Given the description of an element on the screen output the (x, y) to click on. 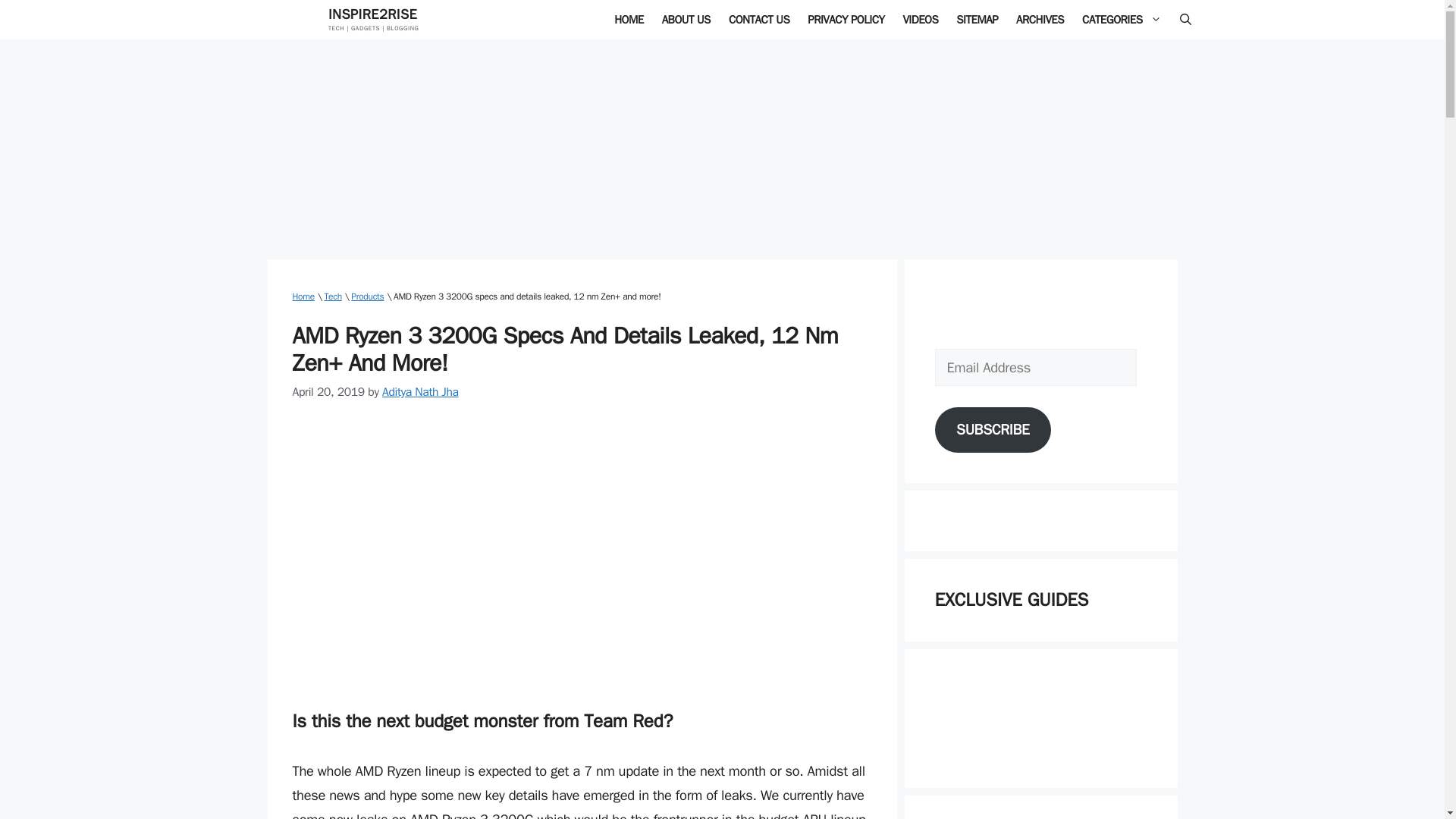
SITEMAP (977, 19)
CATEGORIES (1121, 19)
Categories (1121, 19)
Inspire2rise (628, 19)
Videos (920, 19)
About Inspire2Rise (685, 19)
HOME (628, 19)
CONTACT US (758, 19)
Contact the Admins (758, 19)
ARCHIVES (1040, 19)
Sitemap (977, 19)
VIDEOS (920, 19)
PRIVACY POLICY (845, 19)
INSPIRE2RISE (372, 13)
ABOUT US (685, 19)
